Given the description of an element on the screen output the (x, y) to click on. 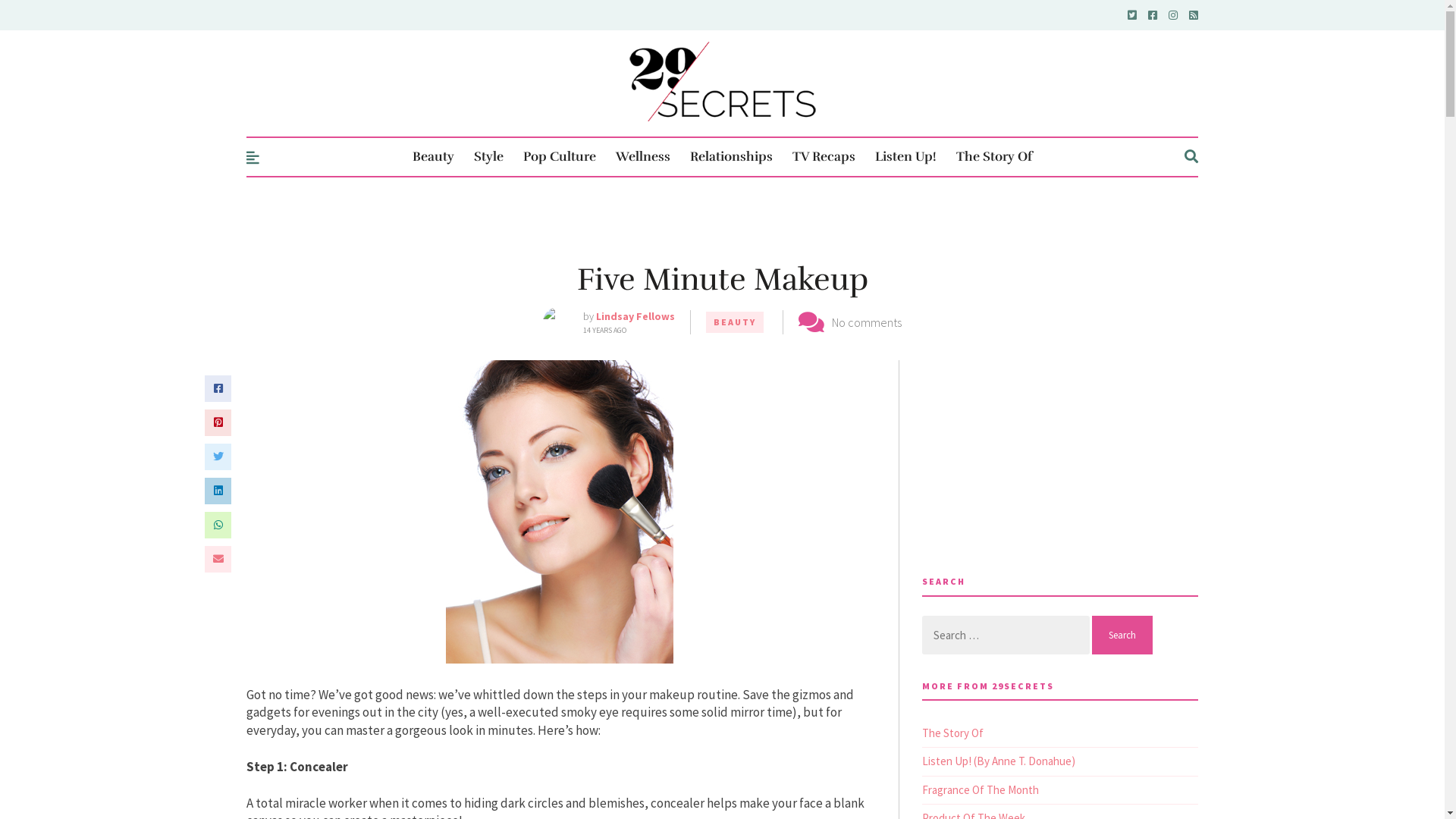
No comments Element type: text (866, 321)
3rd party ad content Element type: hover (721, 216)
Listen Up! Element type: text (905, 156)
The Story Of Element type: text (952, 732)
Search Element type: text (1122, 634)
TV Recaps Element type: text (823, 156)
Listen Up! (By Anne T. Donahue) Element type: text (998, 760)
Pop Culture Element type: text (559, 156)
3rd party ad content Element type: hover (1059, 376)
Style Element type: text (488, 156)
Lindsay Fellows Element type: text (635, 316)
29Secrets Element type: text (722, 81)
The Story Of Element type: text (994, 156)
BEAUTY Element type: text (734, 321)
Relationships Element type: text (731, 156)
Fragrance Of The Month Element type: text (980, 789)
Beauty Element type: text (433, 156)
Wellness Element type: text (642, 156)
